Given the description of an element on the screen output the (x, y) to click on. 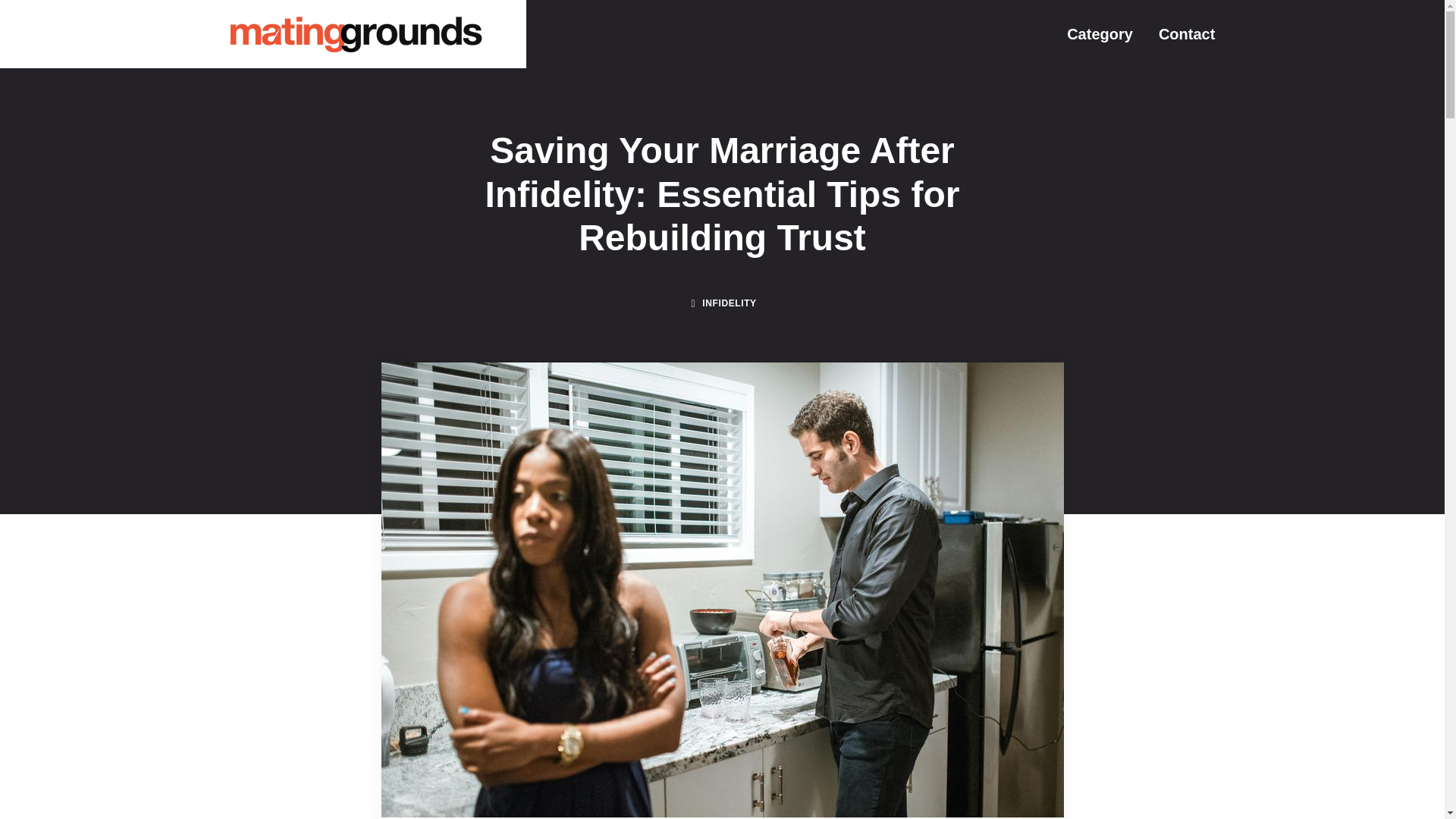
Contact (1186, 33)
INFIDELITY (728, 303)
Category (1099, 33)
